Given the description of an element on the screen output the (x, y) to click on. 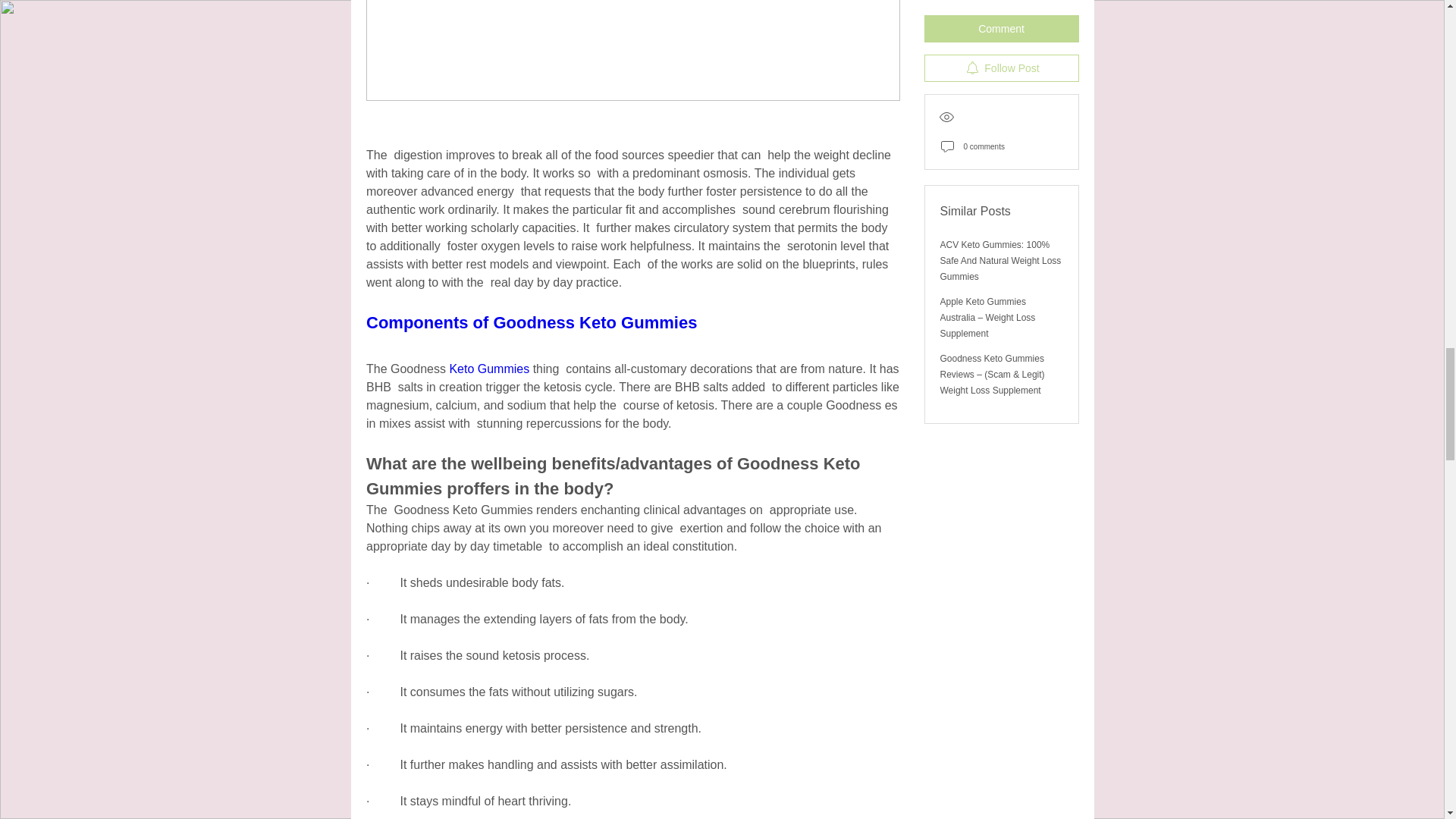
Components of Goodness Keto Gummies (530, 322)
Keto Gummies  (490, 368)
